Given the description of an element on the screen output the (x, y) to click on. 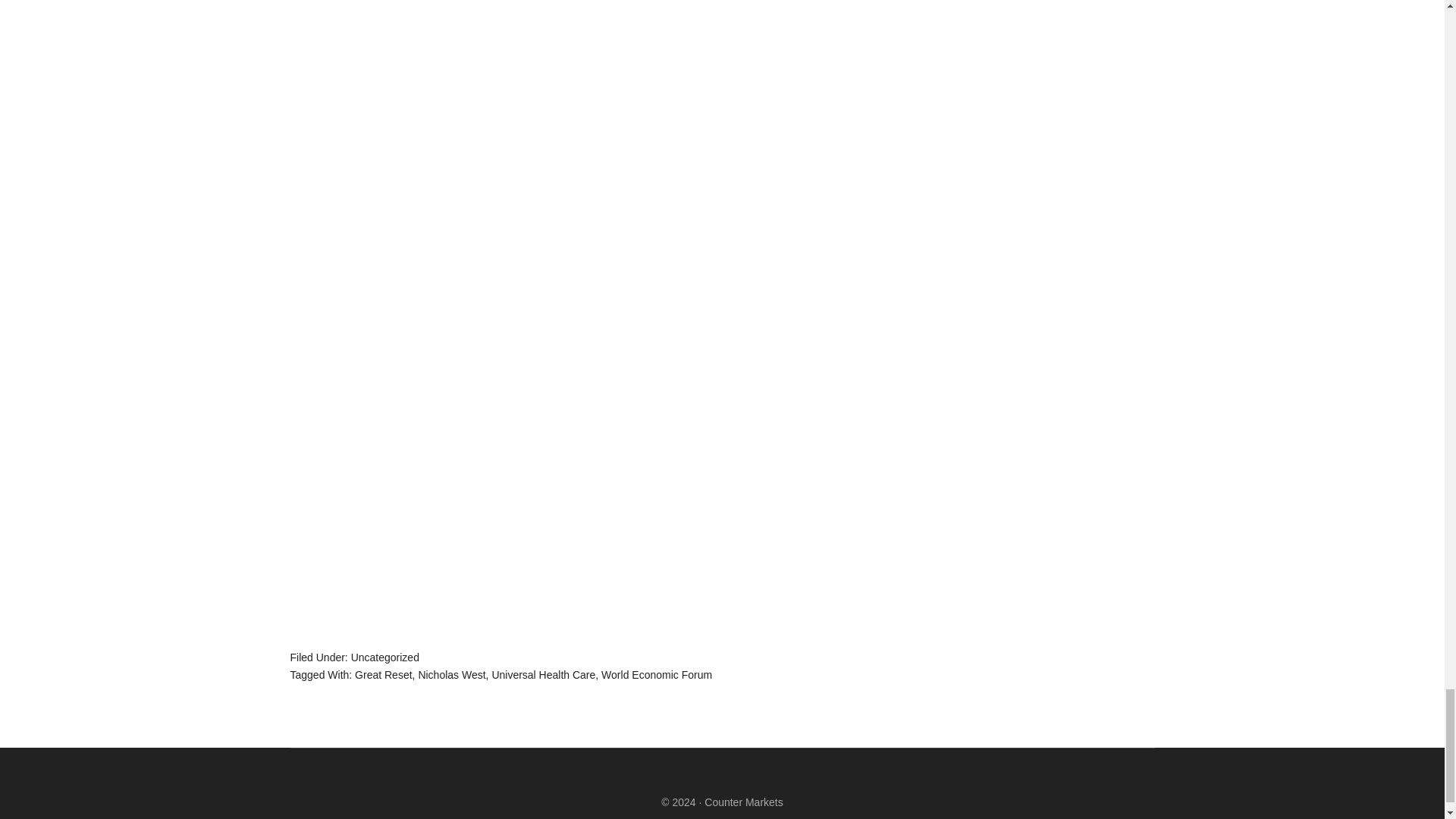
Uncategorized (384, 657)
Great Reset (383, 674)
Universal Health Care (543, 674)
Nicholas West (450, 674)
World Economic Forum (656, 674)
